Given the description of an element on the screen output the (x, y) to click on. 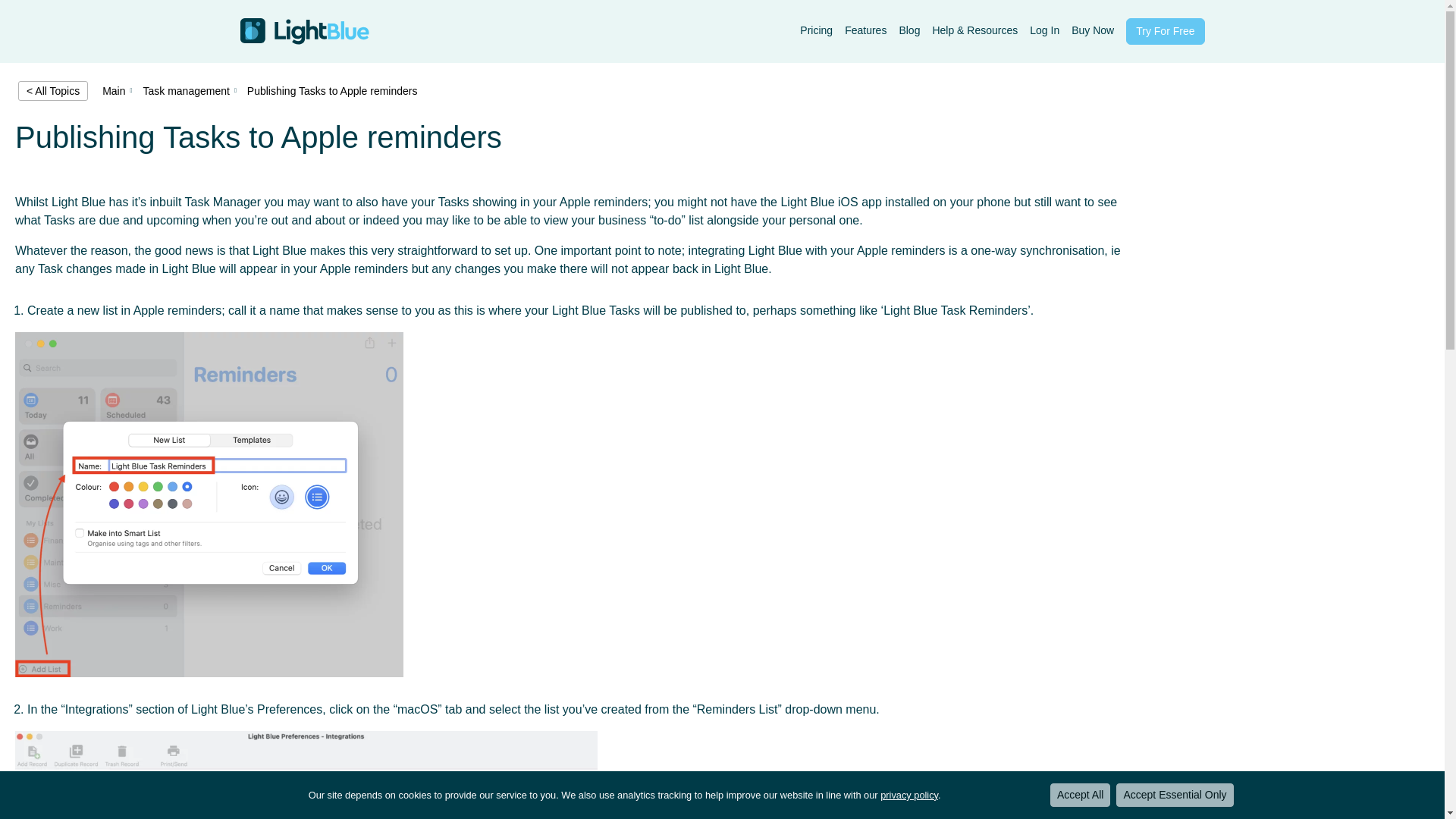
Buy Now (1092, 30)
Blog (909, 30)
Try For Free (1164, 31)
Go Home (304, 31)
View our cookie policy (908, 794)
Task management (185, 91)
Accept All (1079, 794)
Log In (1044, 30)
Features (865, 30)
Main (113, 91)
Pricing (815, 30)
privacy policy (908, 794)
